Given the description of an element on the screen output the (x, y) to click on. 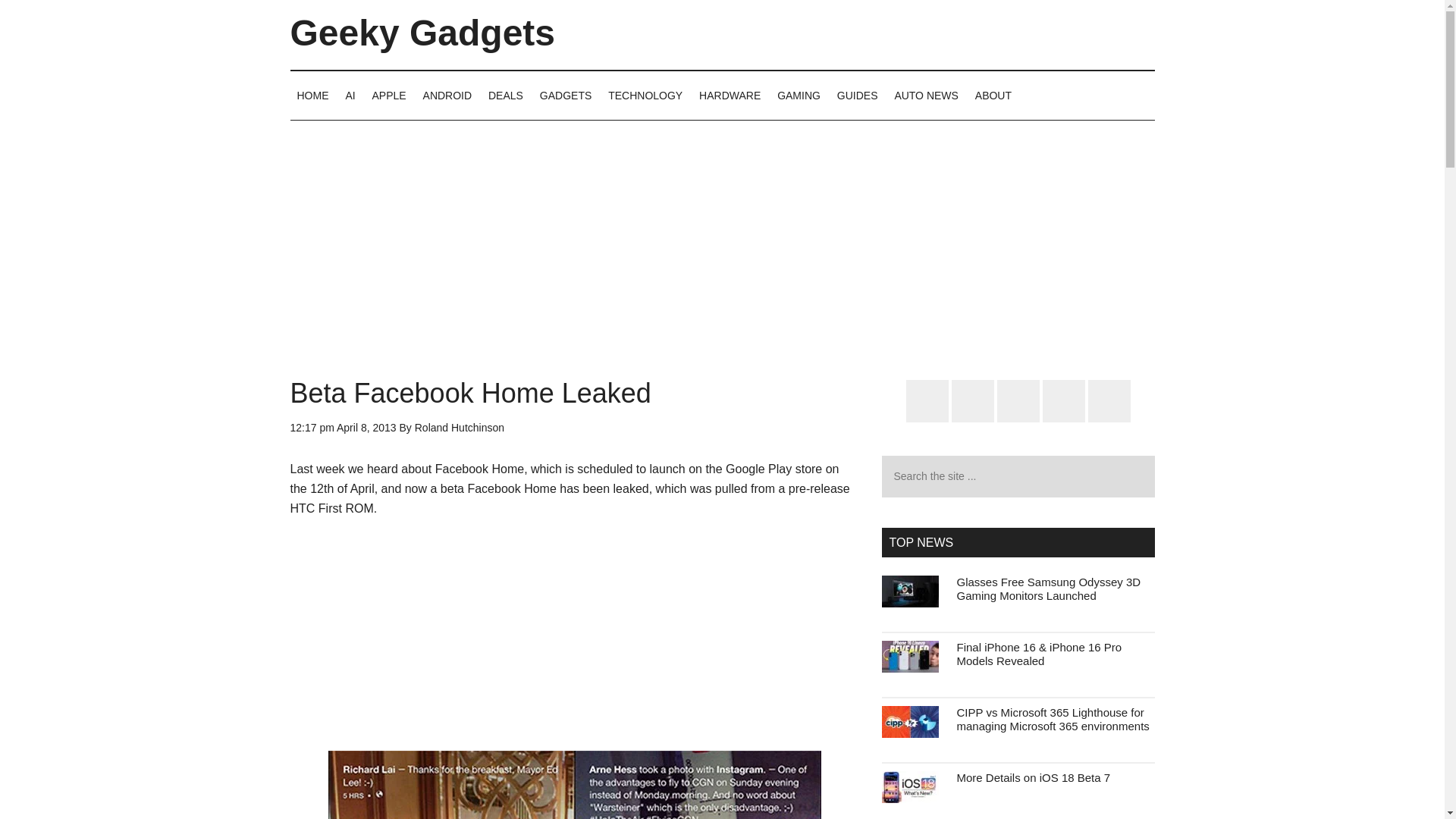
DEALS (505, 95)
APPLE (389, 95)
TECHNOLOGY (644, 95)
HOME (311, 95)
Glasses Free Samsung Odyssey 3D Gaming Monitors Launched (1048, 588)
HARDWARE (730, 95)
ANDROID (447, 95)
